Given the description of an element on the screen output the (x, y) to click on. 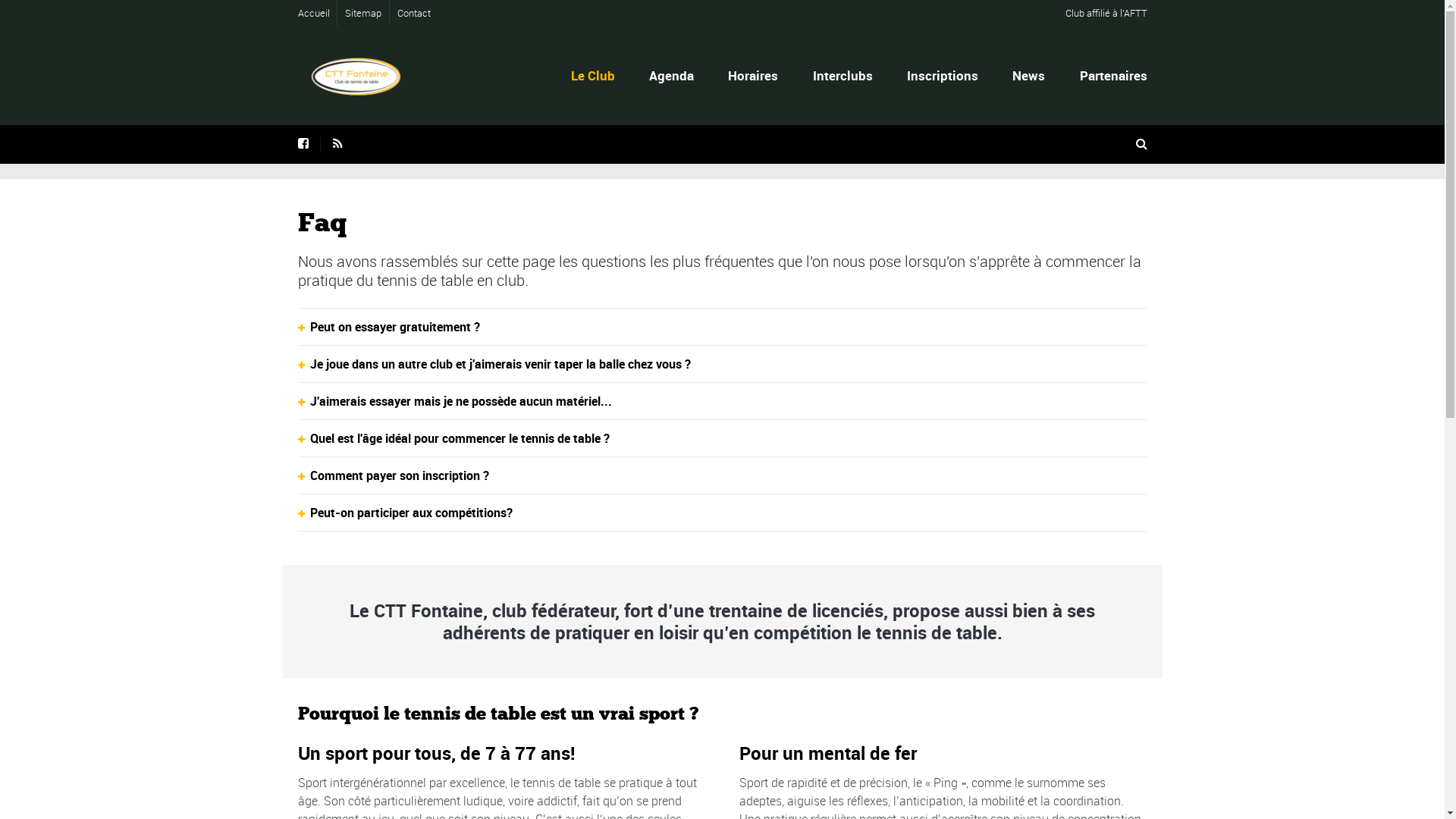
Accueil Element type: text (313, 12)
Comment payer son inscription ? Element type: text (721, 475)
Agenda Element type: text (671, 75)
Horaires Element type: text (752, 75)
Sitemap Element type: text (363, 12)
News Element type: text (1028, 75)
Contact Element type: text (413, 12)
Le Club Element type: text (592, 75)
Peut on essayer gratuitement ? Element type: text (721, 326)
Inscriptions Element type: text (942, 75)
Partenaires Element type: text (1111, 75)
Interclubs Element type: text (842, 75)
